Given the description of an element on the screen output the (x, y) to click on. 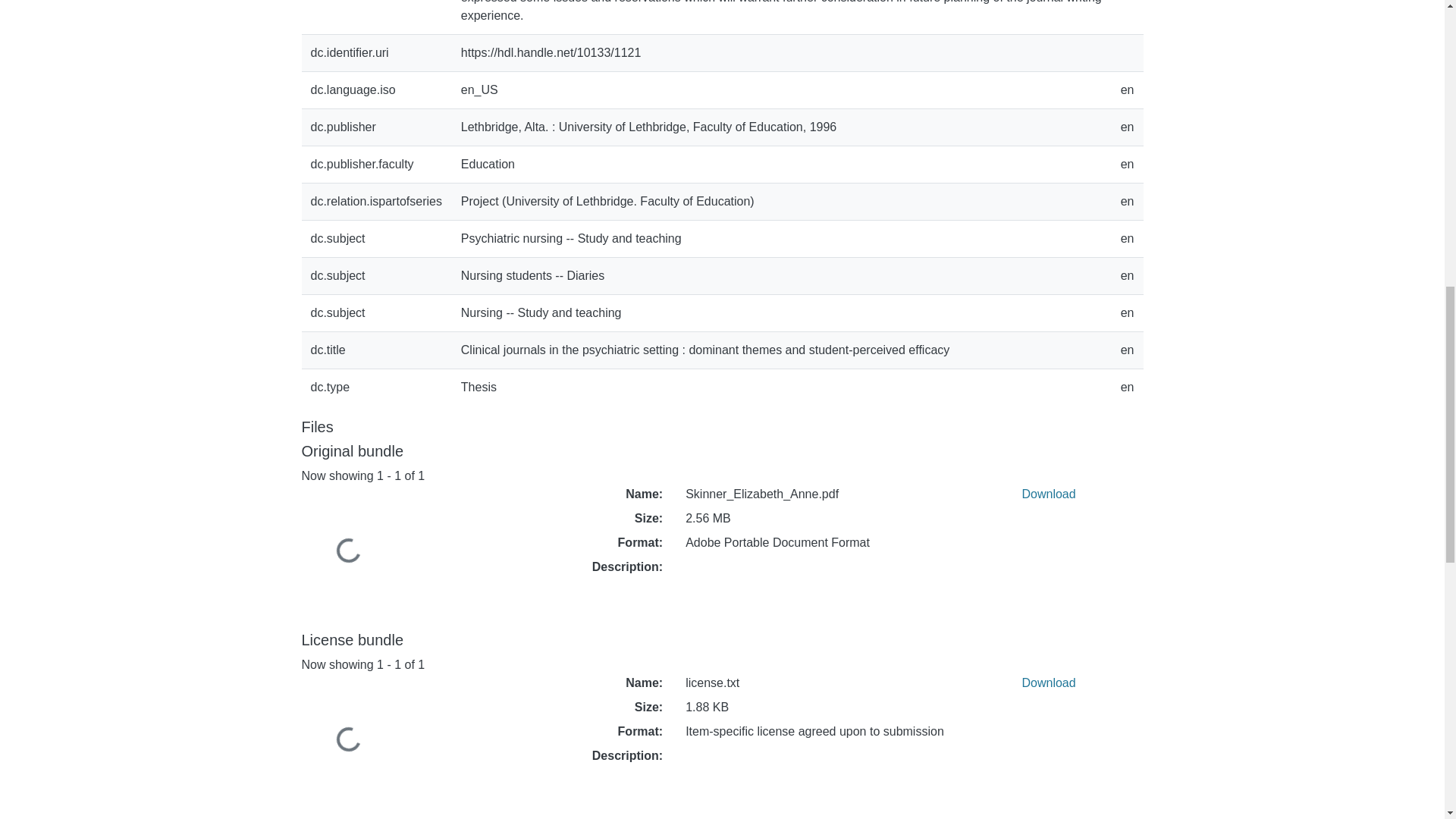
Download (1048, 493)
Download (1048, 682)
